Given the description of an element on the screen output the (x, y) to click on. 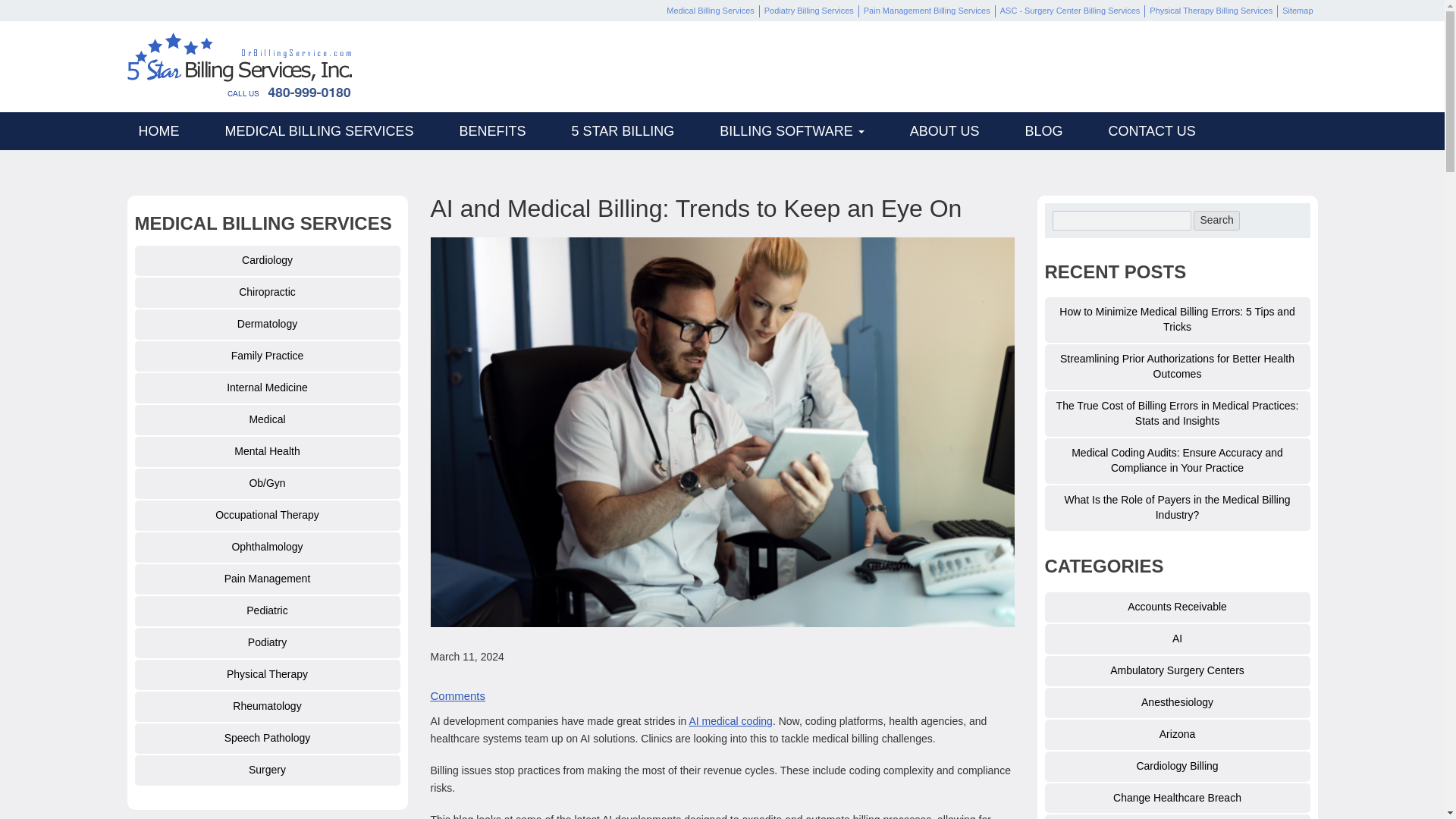
About Us (791, 130)
ABOUT US (944, 130)
BENEFITS (492, 130)
Dermatology (267, 324)
Physical Therapy Billing Services (1210, 10)
5 STAR BILLING (622, 130)
Search (1216, 220)
BLOG (1042, 130)
Medical Billing Services (710, 10)
Podiatry Billing Services (809, 10)
